Given the description of an element on the screen output the (x, y) to click on. 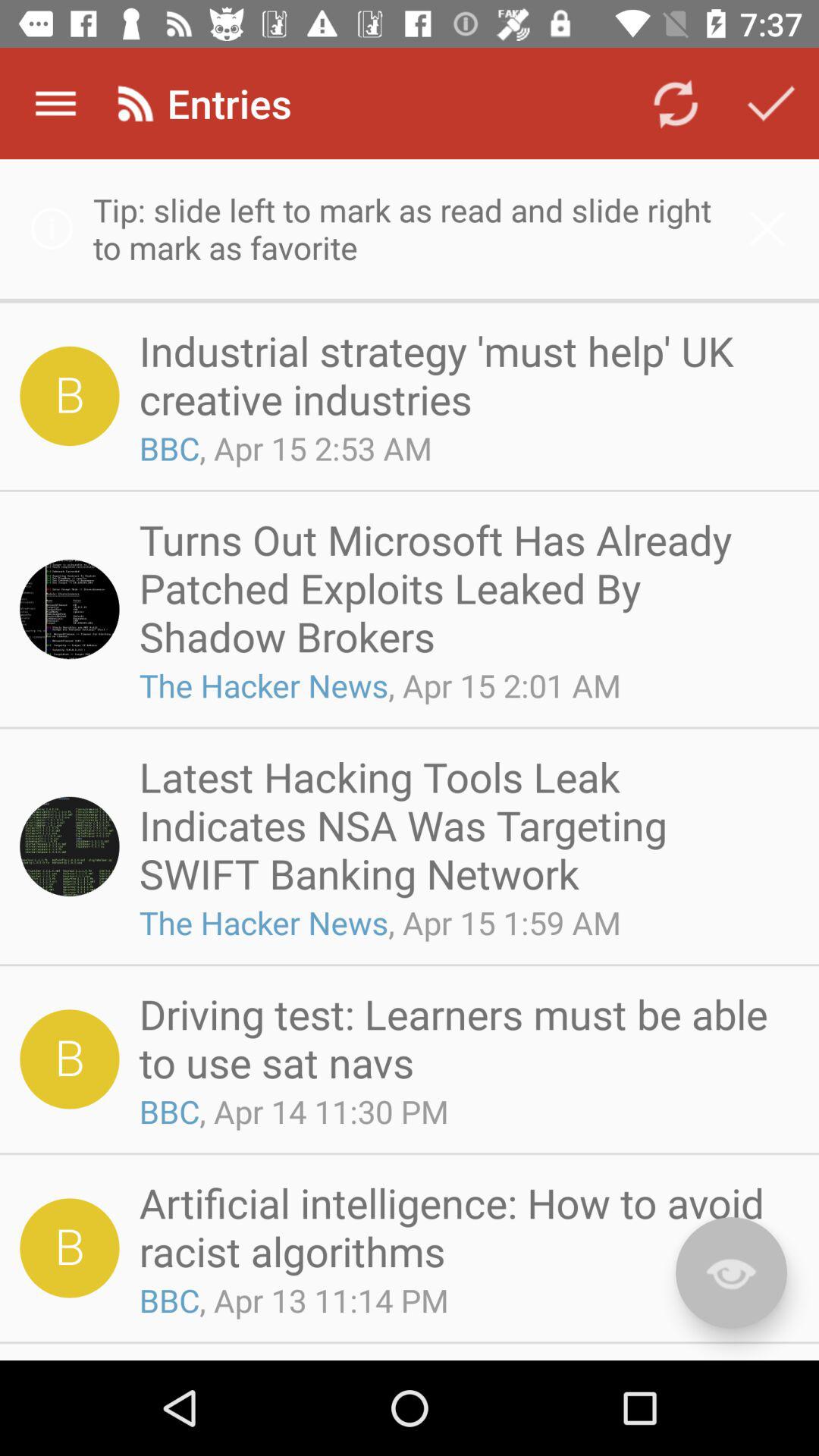
turn off the latest hacking tools item (463, 824)
